Given the description of an element on the screen output the (x, y) to click on. 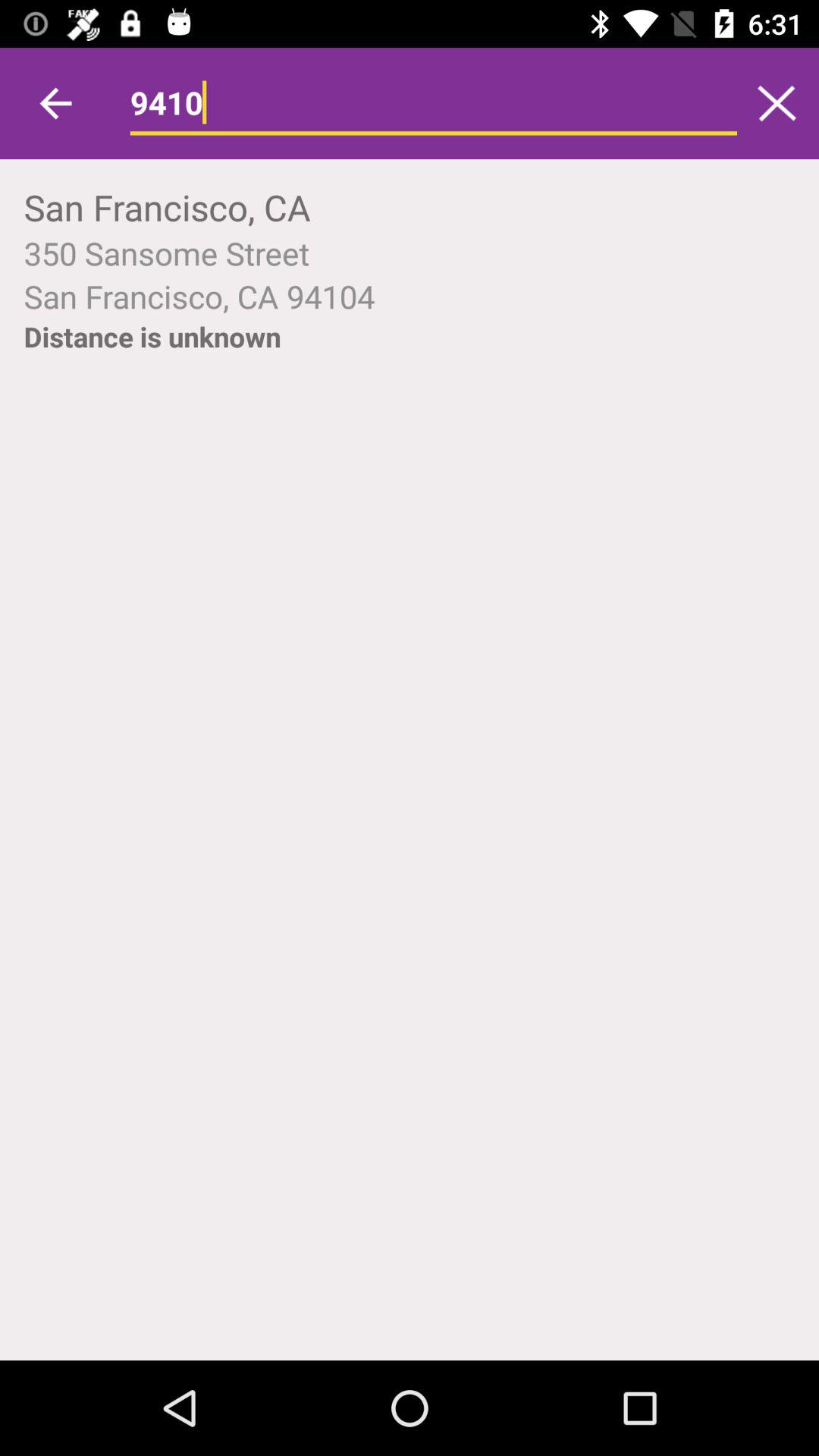
choose the item at the top right corner (776, 103)
